Given the description of an element on the screen output the (x, y) to click on. 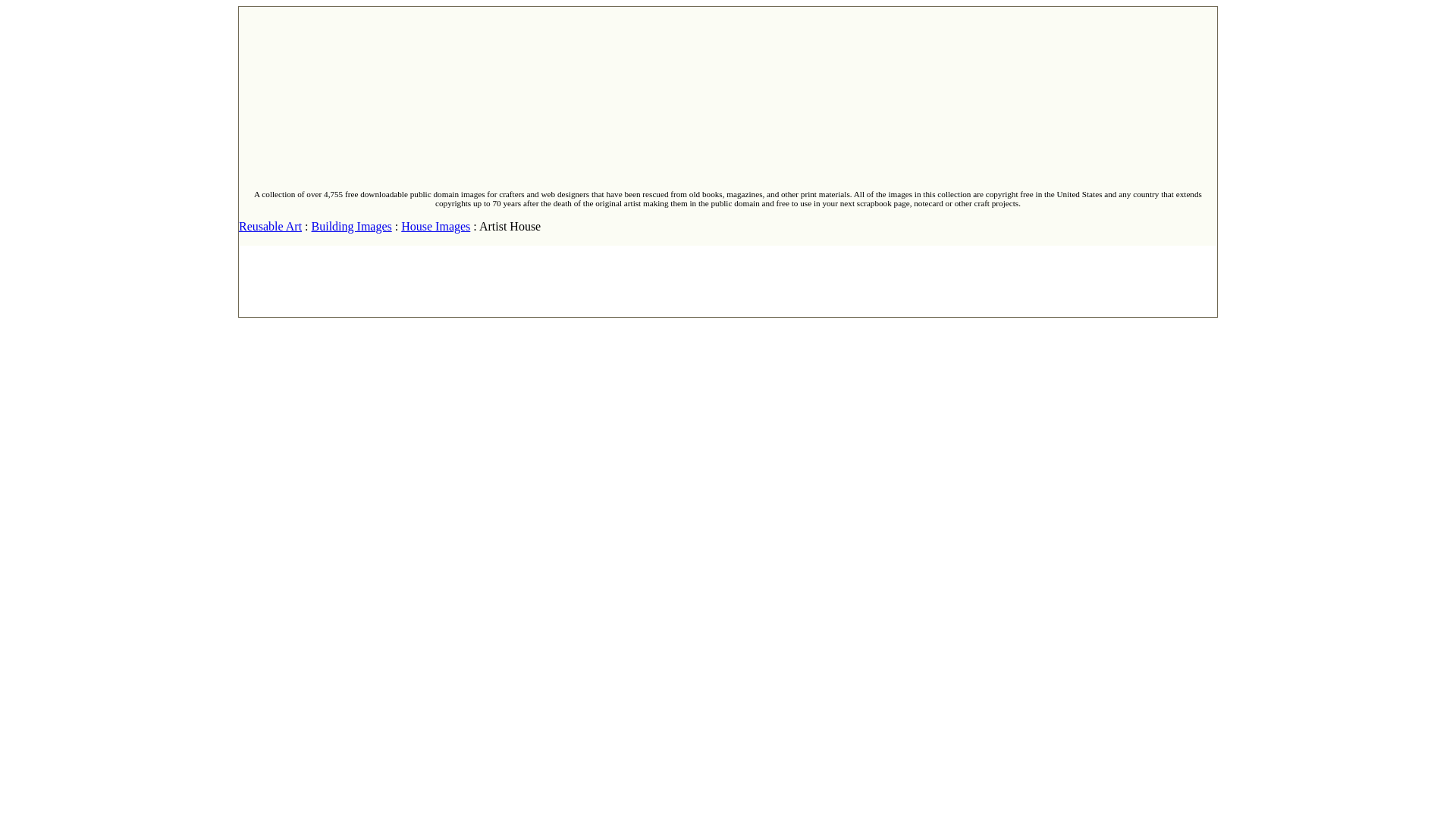
House Images (435, 226)
Reusable Art (269, 226)
Building Images (351, 226)
